Given the description of an element on the screen output the (x, y) to click on. 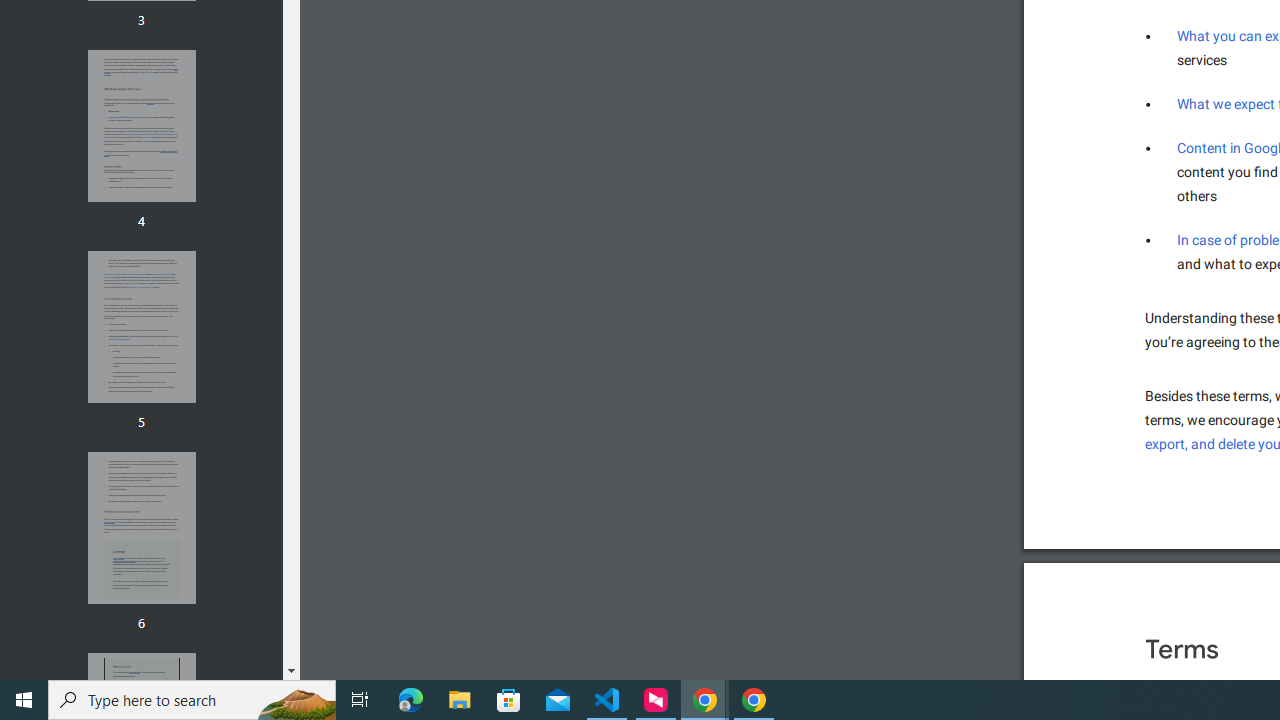
Thumbnail for page 4 (141, 125)
Thumbnail for page 6 (141, 528)
Thumbnail for page 5 (141, 326)
AutomationID: thumbnail (141, 528)
